Given the description of an element on the screen output the (x, y) to click on. 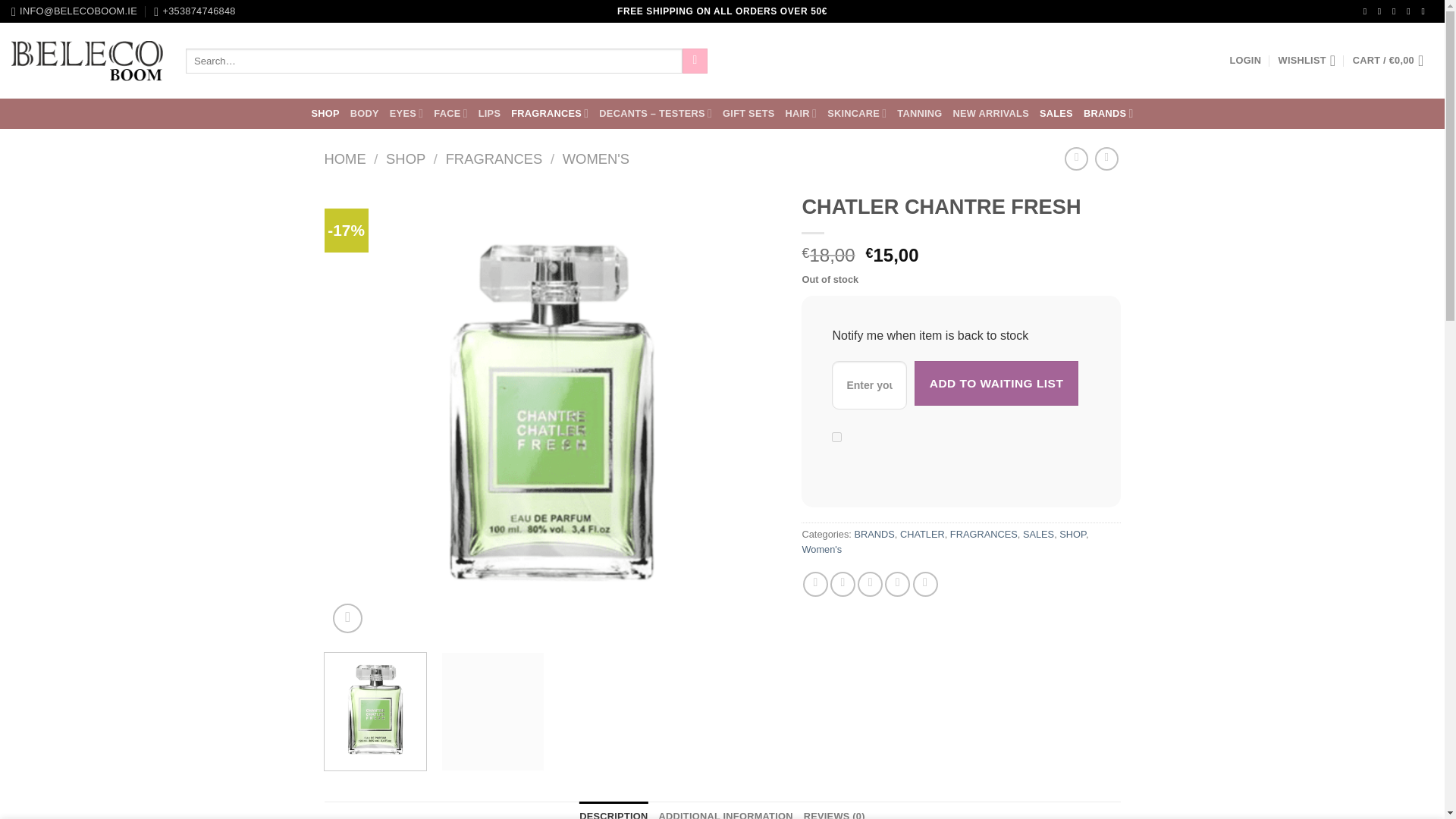
SHOP (325, 113)
WISHLIST (1307, 60)
yes (836, 437)
FRAGRANCES (549, 112)
BODY (364, 113)
Add to waiting list (996, 383)
EYES (406, 112)
Search (694, 61)
LOGIN (1244, 60)
Cart (1392, 60)
